Given the description of an element on the screen output the (x, y) to click on. 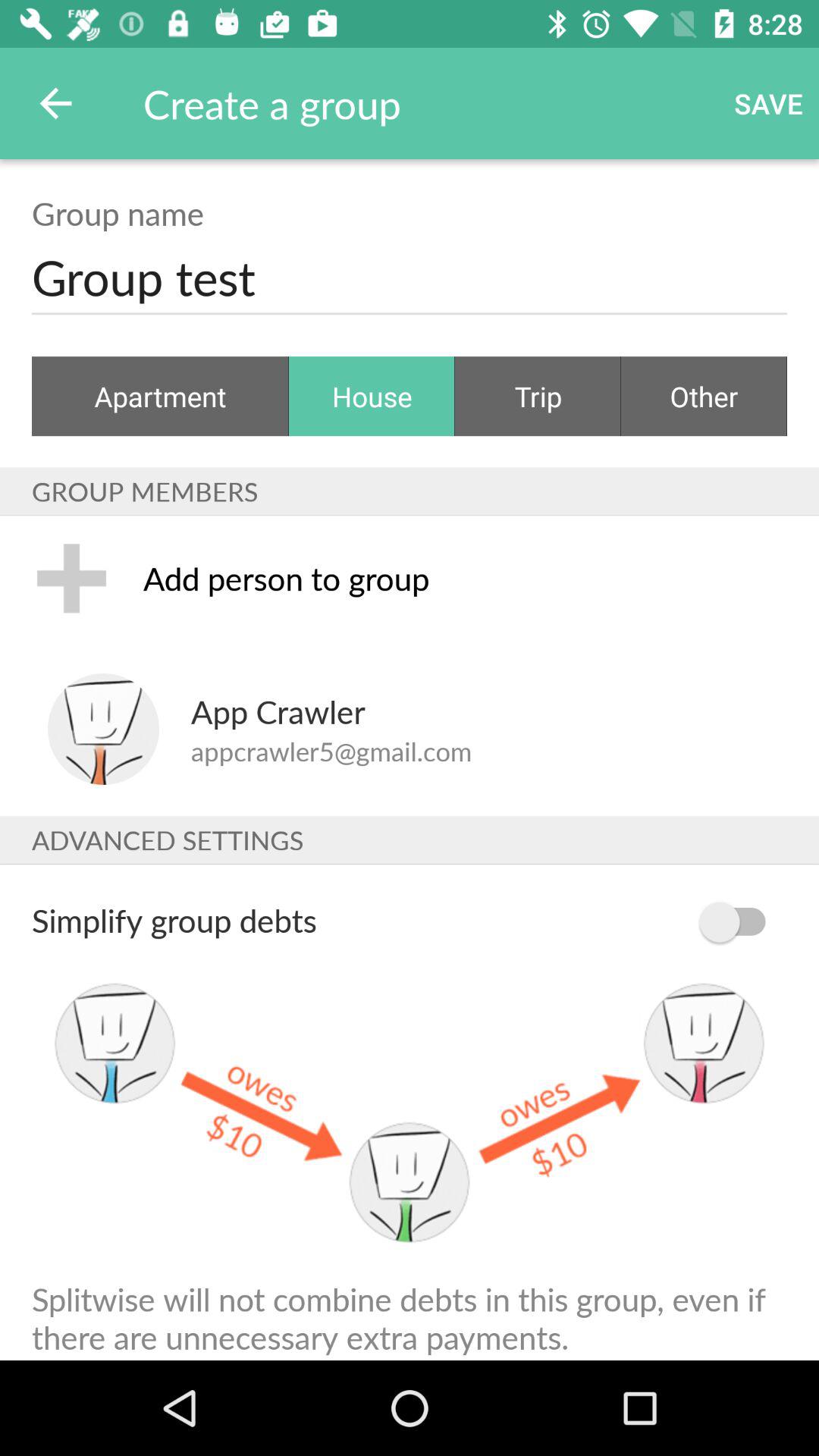
scroll to the apartment icon (159, 396)
